Given the description of an element on the screen output the (x, y) to click on. 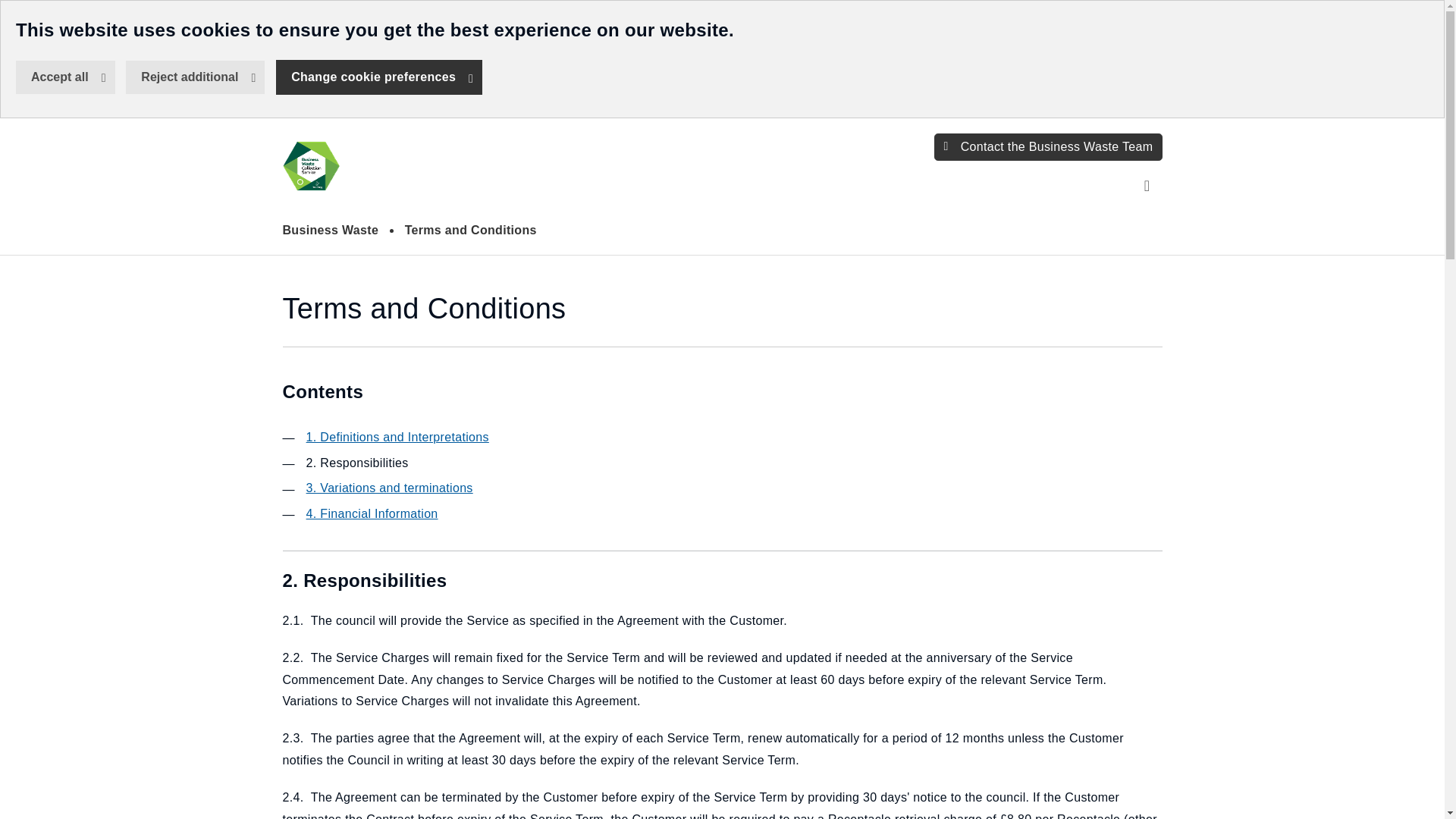
Change cookie preferences (378, 77)
4. Financial Information (371, 513)
3. Variations and terminations (389, 487)
1. Definitions and Interpretations (397, 436)
Search this website (1146, 184)
Accept all (65, 77)
Terms and Conditions (470, 230)
Reject additional (310, 165)
Business Waste (194, 77)
